Given the description of an element on the screen output the (x, y) to click on. 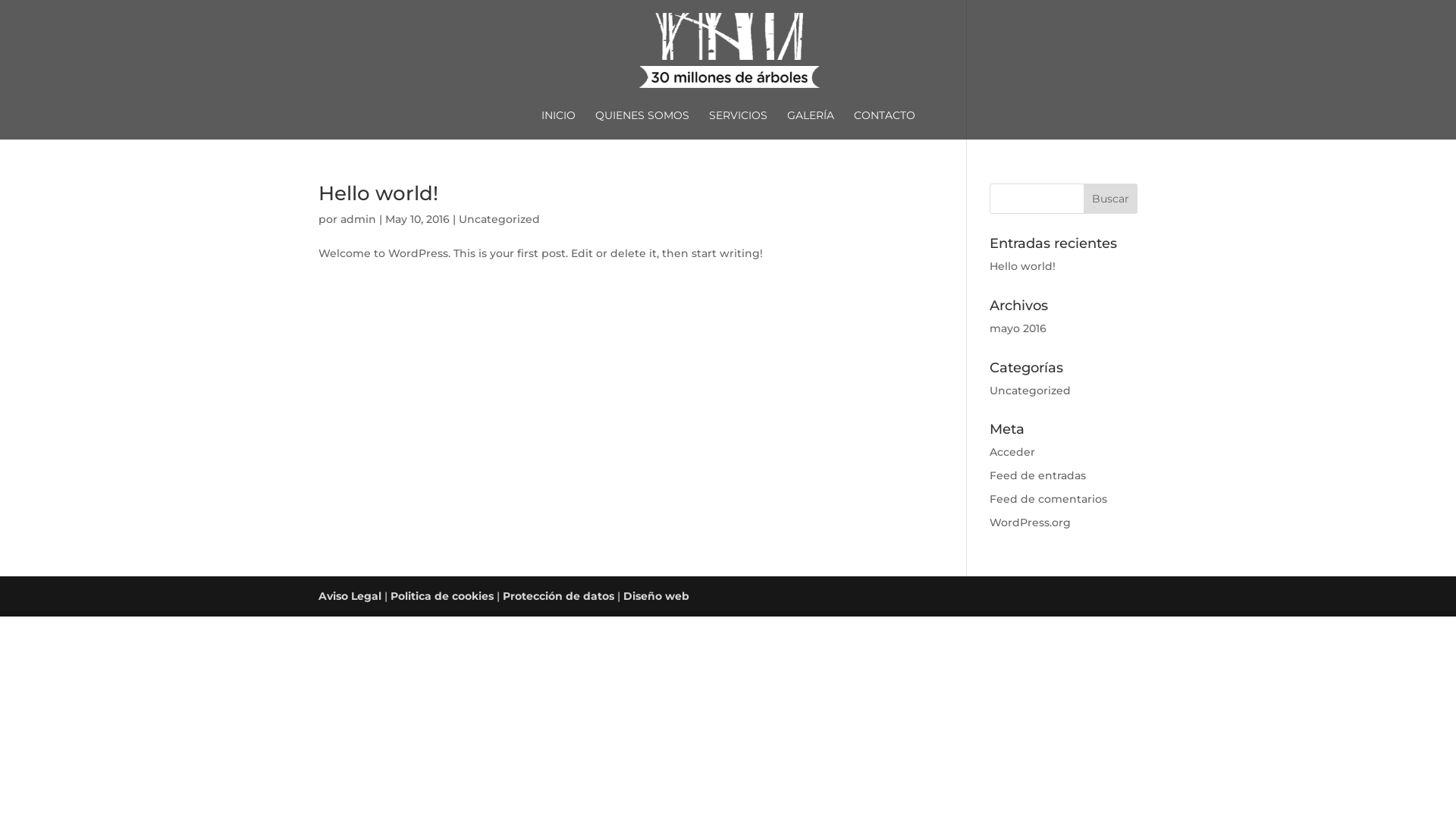
SERVICIOS Element type: text (737, 124)
CONTACTO Element type: text (884, 124)
Aviso Legal Element type: text (349, 595)
INICIO Element type: text (558, 124)
Uncategorized Element type: text (1029, 390)
Uncategorized Element type: text (498, 218)
Acceder Element type: text (1012, 451)
QUIENES SOMOS Element type: text (641, 124)
Feed de comentarios Element type: text (1048, 498)
Buscar Element type: text (1110, 198)
admin Element type: text (358, 218)
mayo 2016 Element type: text (1017, 328)
Feed de entradas Element type: text (1037, 475)
Hello world! Element type: text (378, 193)
Politica de cookies Element type: text (441, 595)
Hello world! Element type: text (1022, 266)
WordPress.org Element type: text (1029, 522)
